Given the description of an element on the screen output the (x, y) to click on. 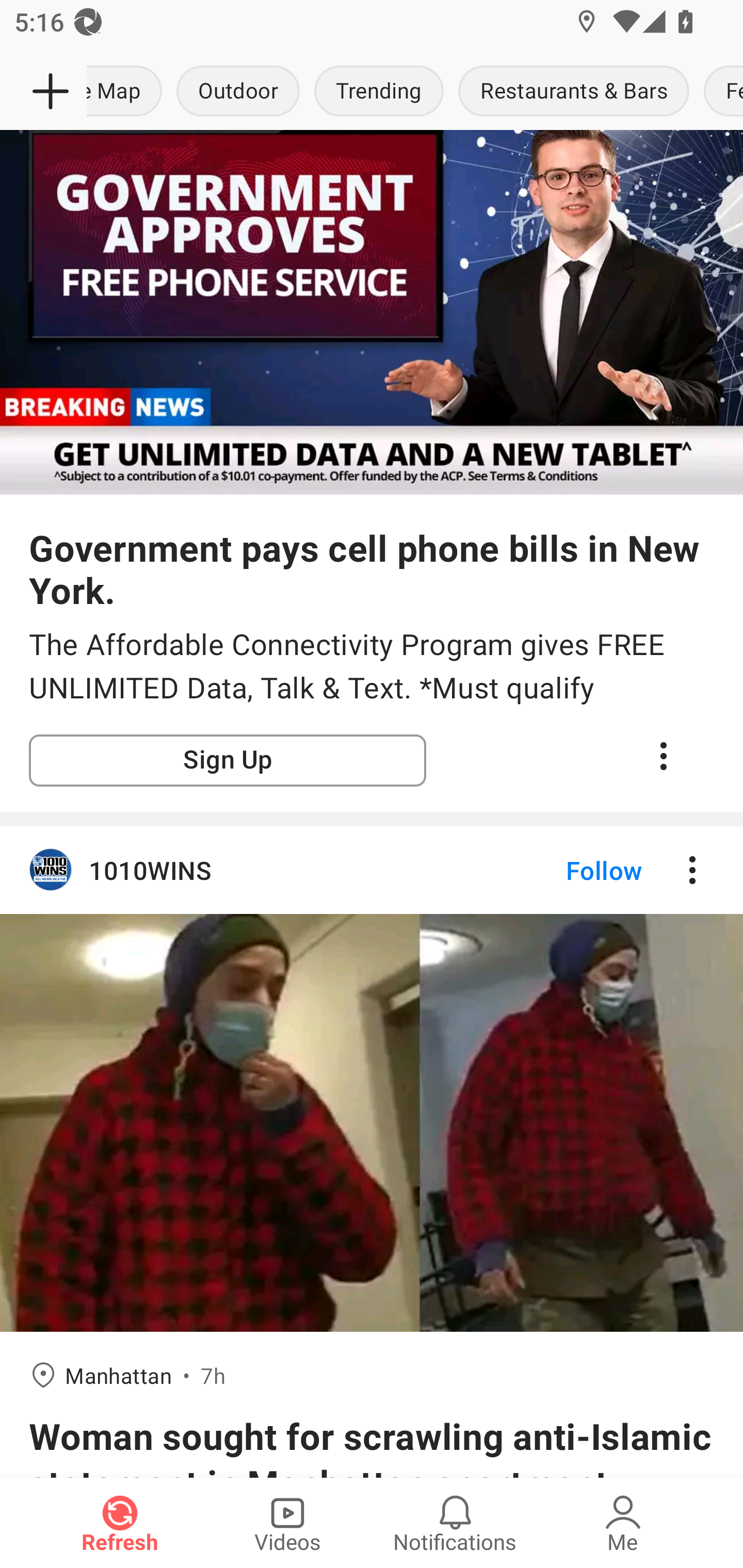
Outdoor (237, 91)
Trending (378, 91)
Restaurants & Bars (573, 91)
Government pays cell phone bills in New York. (371, 568)
Sign Up (227, 760)
1010WINS Follow (371, 870)
Follow (569, 870)
Videos (287, 1522)
Notifications (455, 1522)
Me (622, 1522)
